Given the description of an element on the screen output the (x, y) to click on. 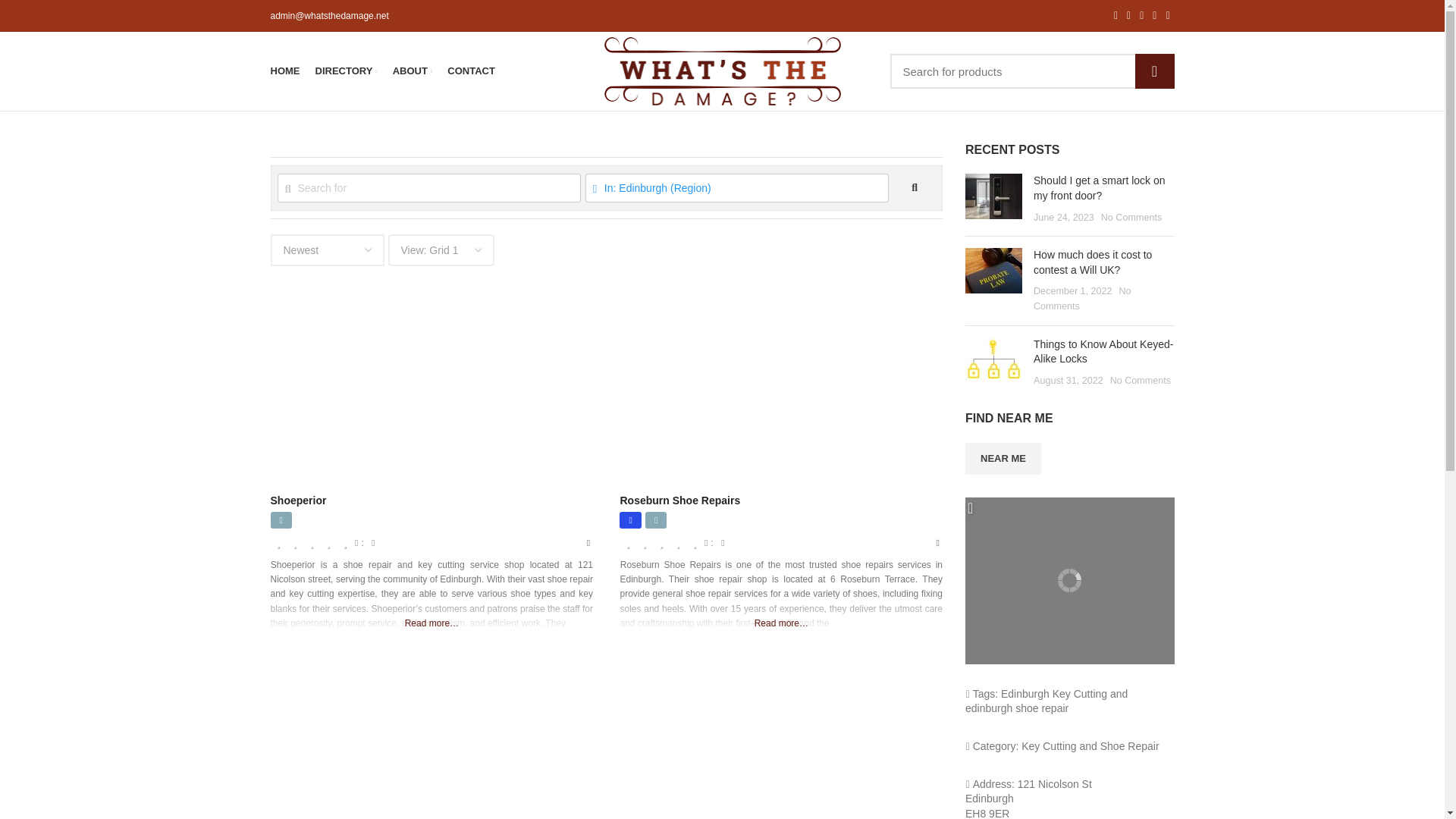
Expand opening hours (372, 542)
DIRECTORY (346, 71)
No rating yet! (661, 542)
CONTACT (470, 71)
Expand opening hours (722, 542)
Shoeperior (297, 500)
SEARCH (1153, 71)
View: Roseburn Shoe Repairs (679, 500)
No rating yet! (311, 542)
Website (280, 519)
